Given the description of an element on the screen output the (x, y) to click on. 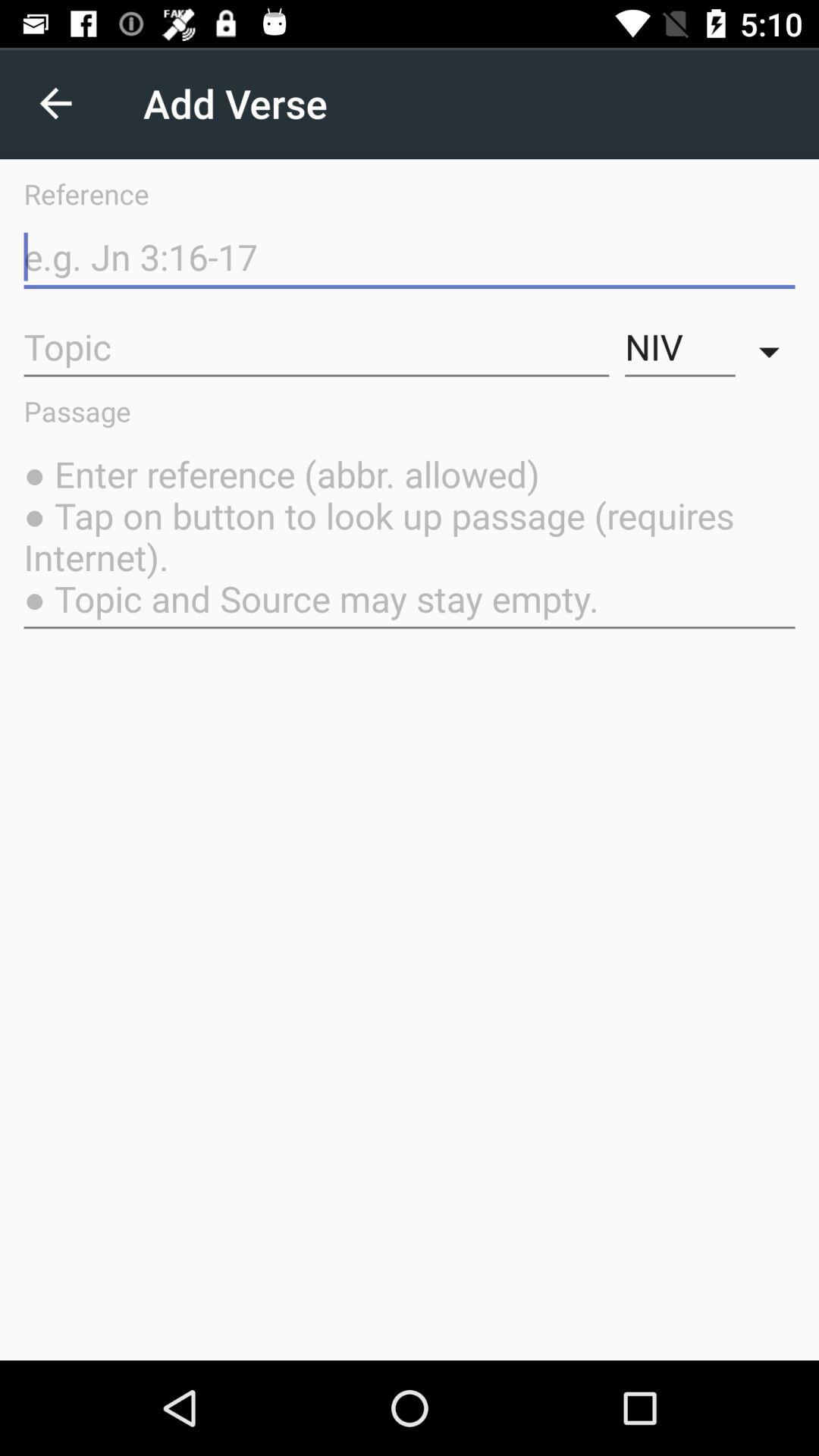
additional options (773, 347)
